Given the description of an element on the screen output the (x, y) to click on. 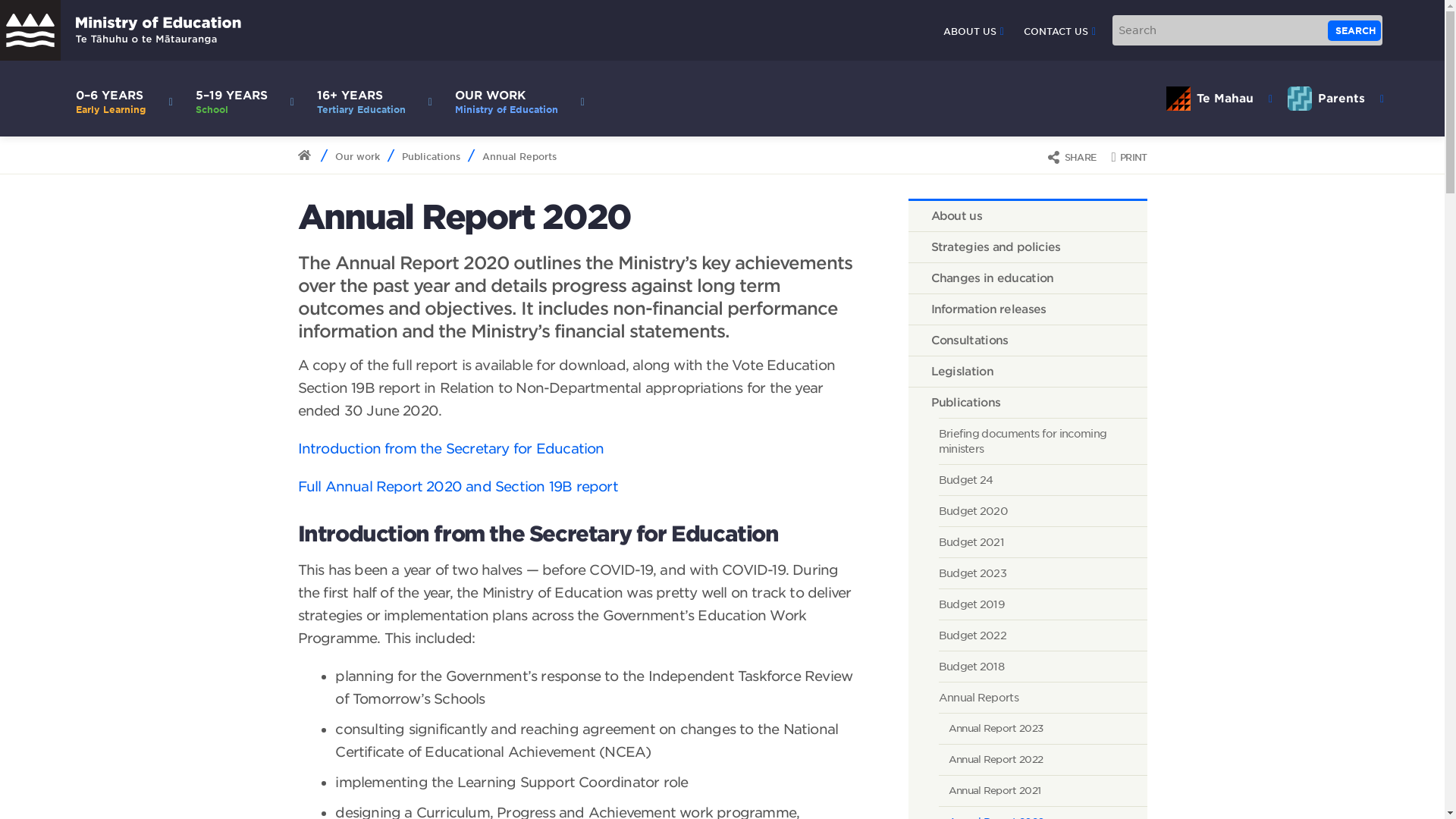
Our work - Ministry of Education (515, 98)
Parents (1335, 98)
CONTACT US (515, 98)
Te Mahau (1059, 31)
About us (1219, 98)
Link to Parents website (1027, 215)
SEARCH (1335, 98)
PRINT (1353, 30)
SHARE (1128, 156)
Link to Te Mahau website (1071, 156)
ABOUT US (1219, 98)
Link to Ministry of Education New Zealand home page. (973, 31)
